Given the description of an element on the screen output the (x, y) to click on. 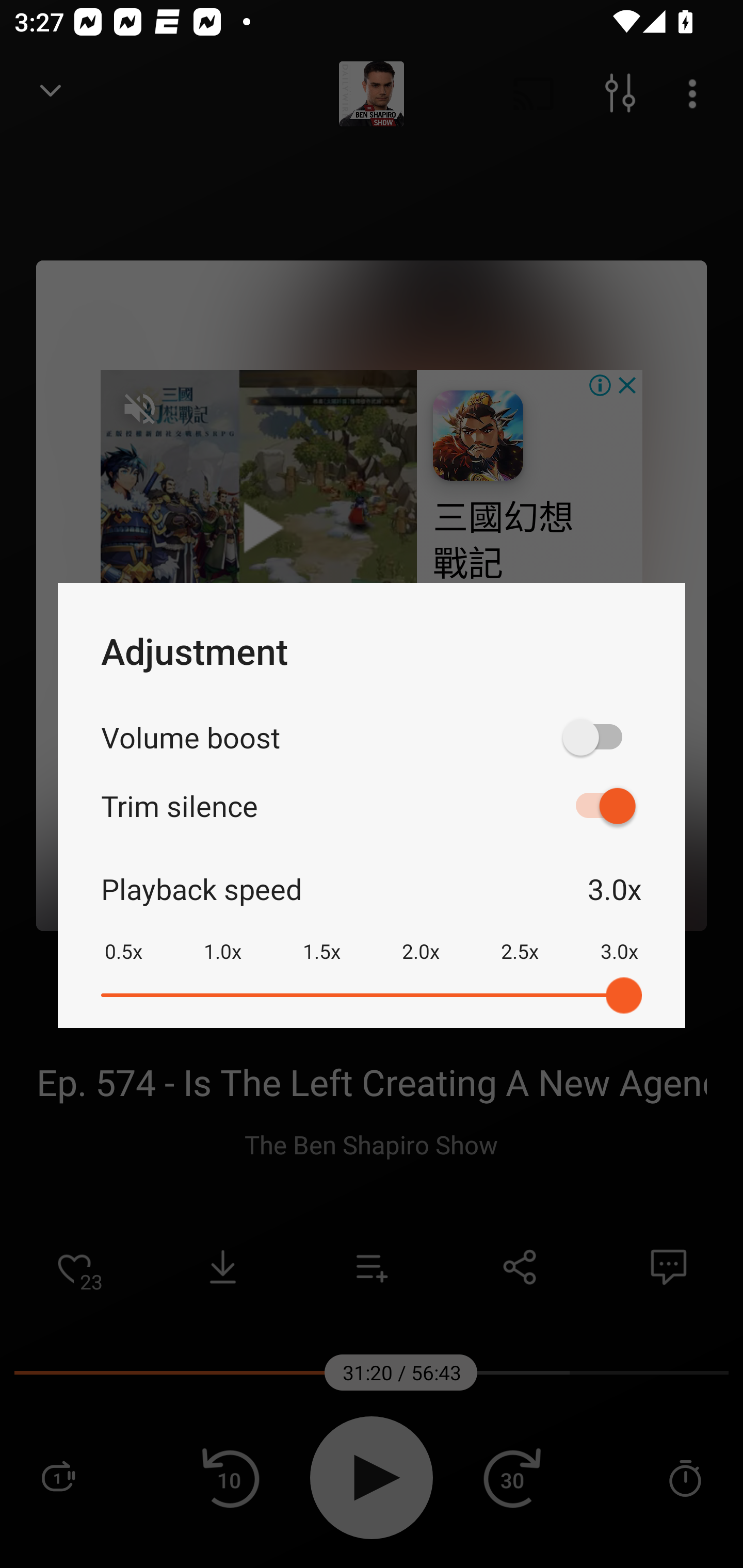
0.5x (123, 937)
1.0x (222, 937)
1.5x (321, 937)
2.0x (420, 937)
2.5x (519, 937)
3.0x (618, 937)
